Given the description of an element on the screen output the (x, y) to click on. 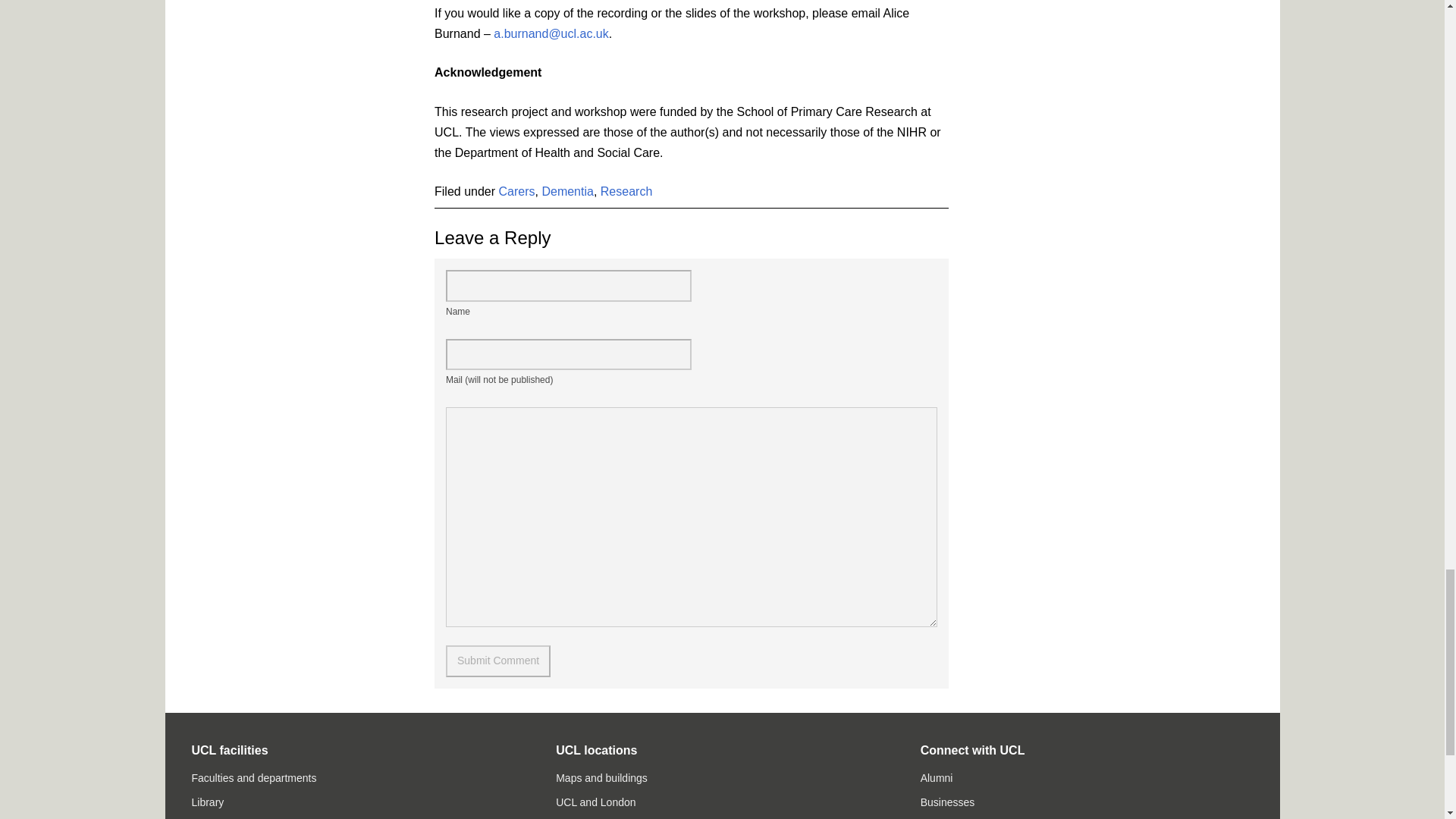
Dementia (566, 191)
Research (625, 191)
Submit Comment (497, 661)
Submit Comment (497, 661)
Carers (517, 191)
